Given the description of an element on the screen output the (x, y) to click on. 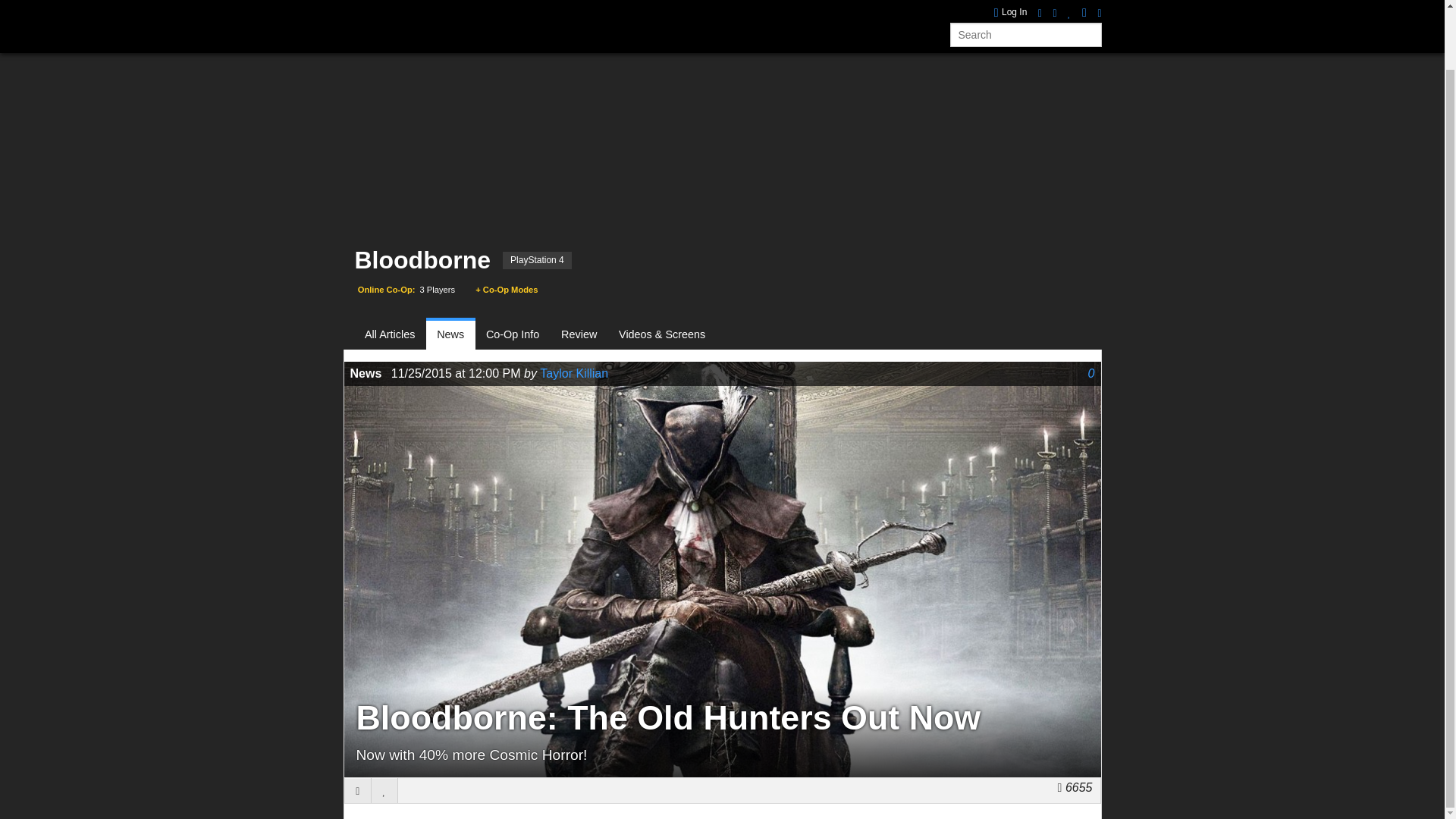
News (451, 334)
PlayStation 4 (537, 260)
Videos (584, 6)
Editorials (743, 6)
Co-Op Games (401, 6)
Co-Op Info (513, 334)
All Articles (395, 334)
Stream Recaps (659, 6)
EDF 6 Co-Op Review (1037, 4)
News (471, 6)
Review (579, 334)
Weekly Video Streams and VODs from Co-Optimus (659, 6)
Reviews (526, 6)
Taylor Killian (574, 373)
